Given the description of an element on the screen output the (x, y) to click on. 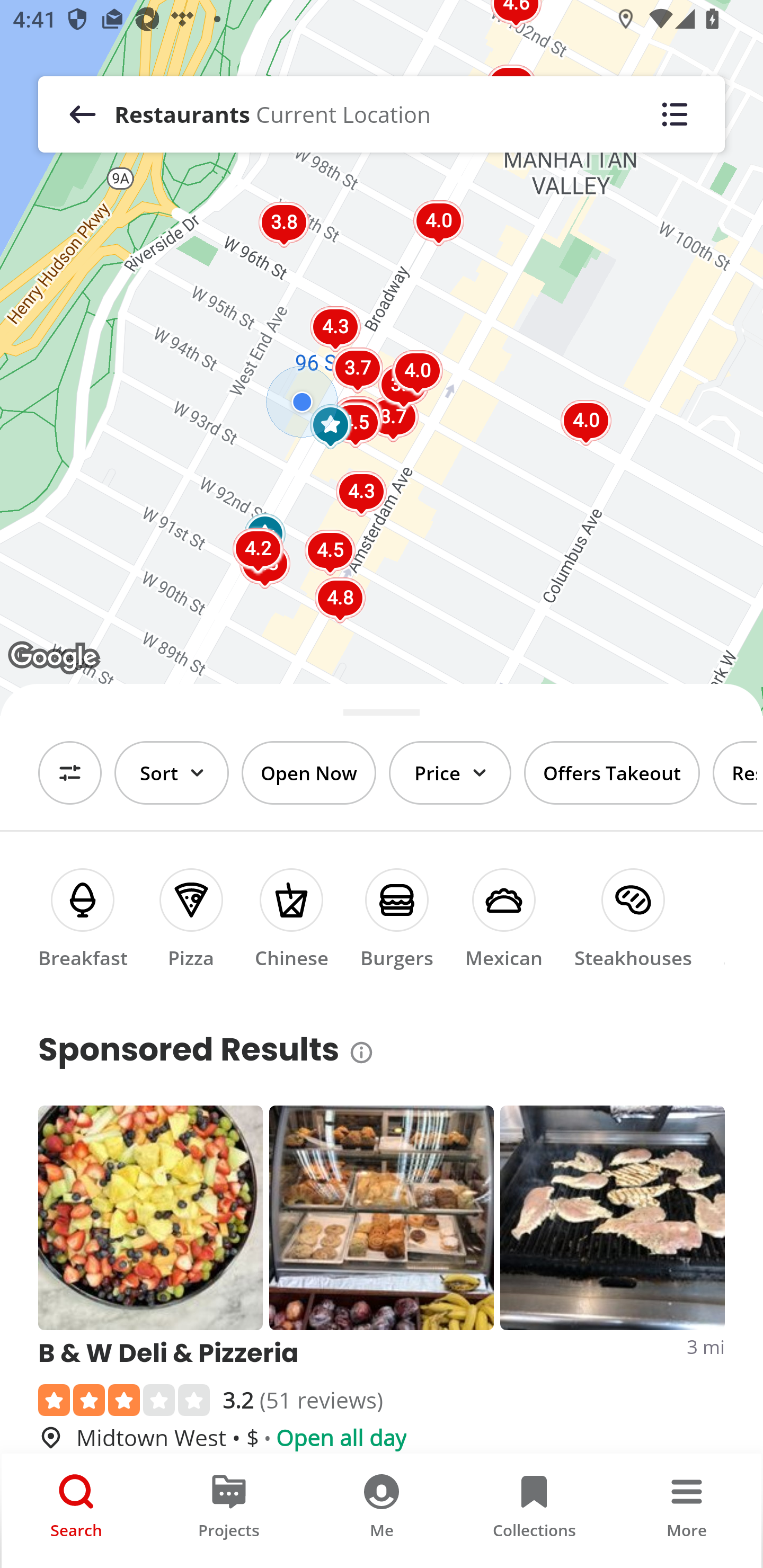
Sort (171, 772)
